Given the description of an element on the screen output the (x, y) to click on. 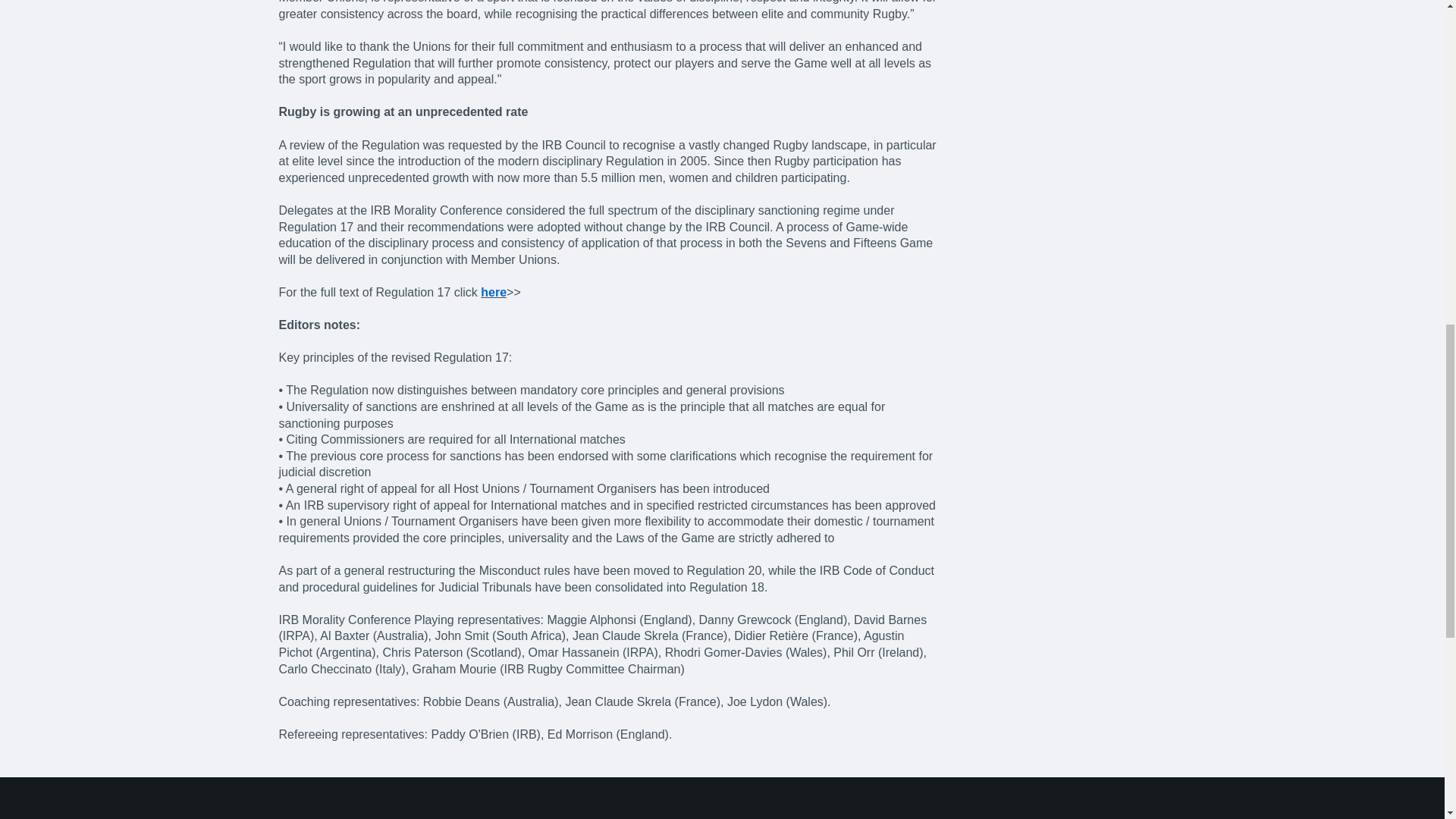
here (493, 291)
